Given the description of an element on the screen output the (x, y) to click on. 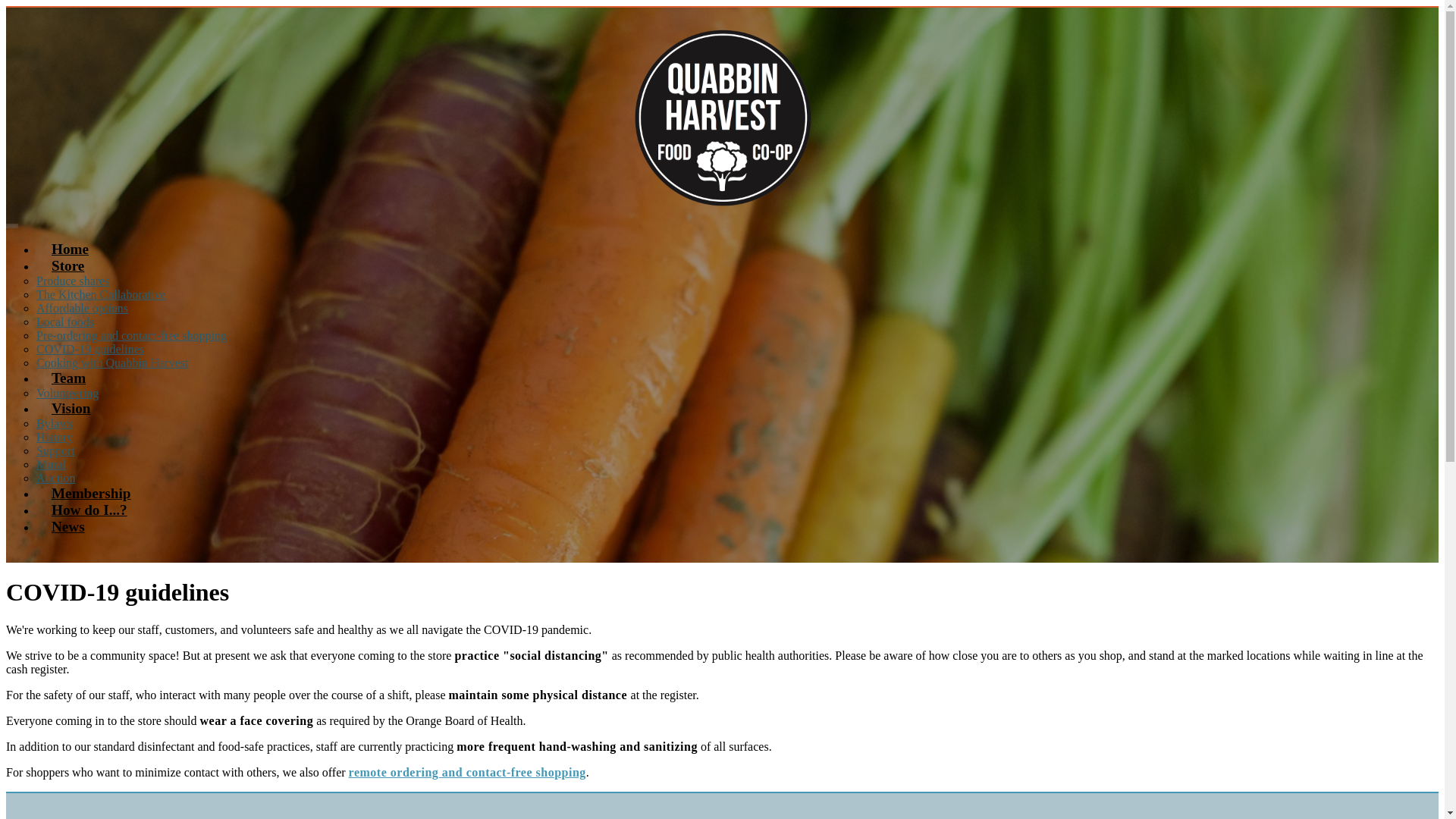
Store (67, 265)
Bylaws (54, 422)
Mural (50, 463)
Auction (55, 477)
History (54, 436)
Home (69, 248)
The Kitchen Collaborative (100, 294)
Cooking with Quabbin Harvest (111, 362)
Local foods (65, 321)
Vision (71, 408)
COVID-19 guidelines (90, 349)
Pre-ordering and contact-free shopping (131, 335)
Team (68, 377)
Affordable options (82, 308)
Volunteering (67, 392)
